Given the description of an element on the screen output the (x, y) to click on. 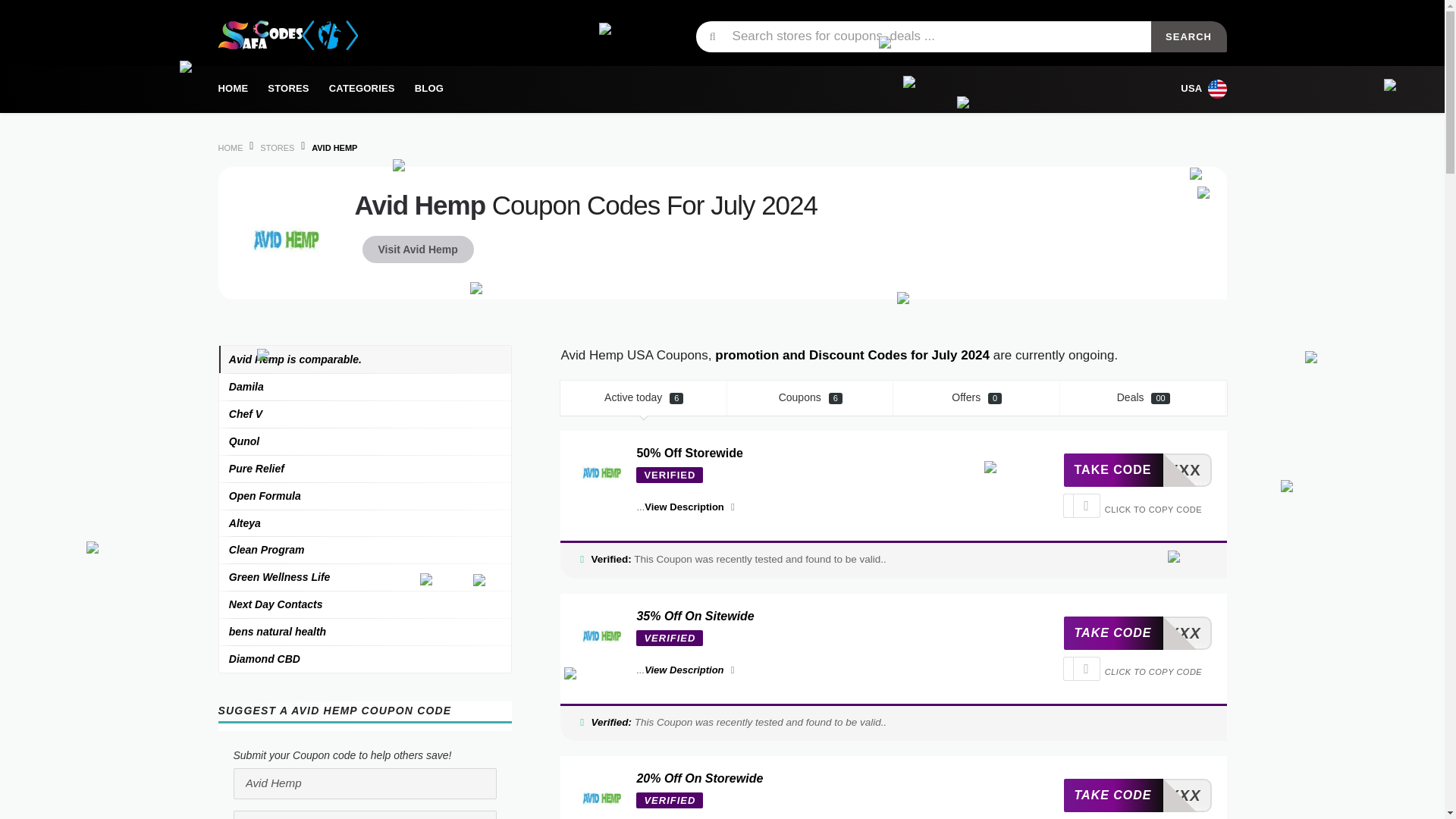
Pure Relief (364, 468)
Offers 0 (976, 397)
Clean Program (364, 549)
STORES (287, 88)
Alteya (364, 523)
Next Day Contacts (364, 604)
Visit Avid Hemp (1136, 795)
USA   (418, 248)
Green Wellness Life (1199, 89)
Deals 00 (364, 576)
CATEGORIES (1143, 397)
Diamond CBD (361, 88)
BLOG (364, 658)
Damila (428, 88)
